Given the description of an element on the screen output the (x, y) to click on. 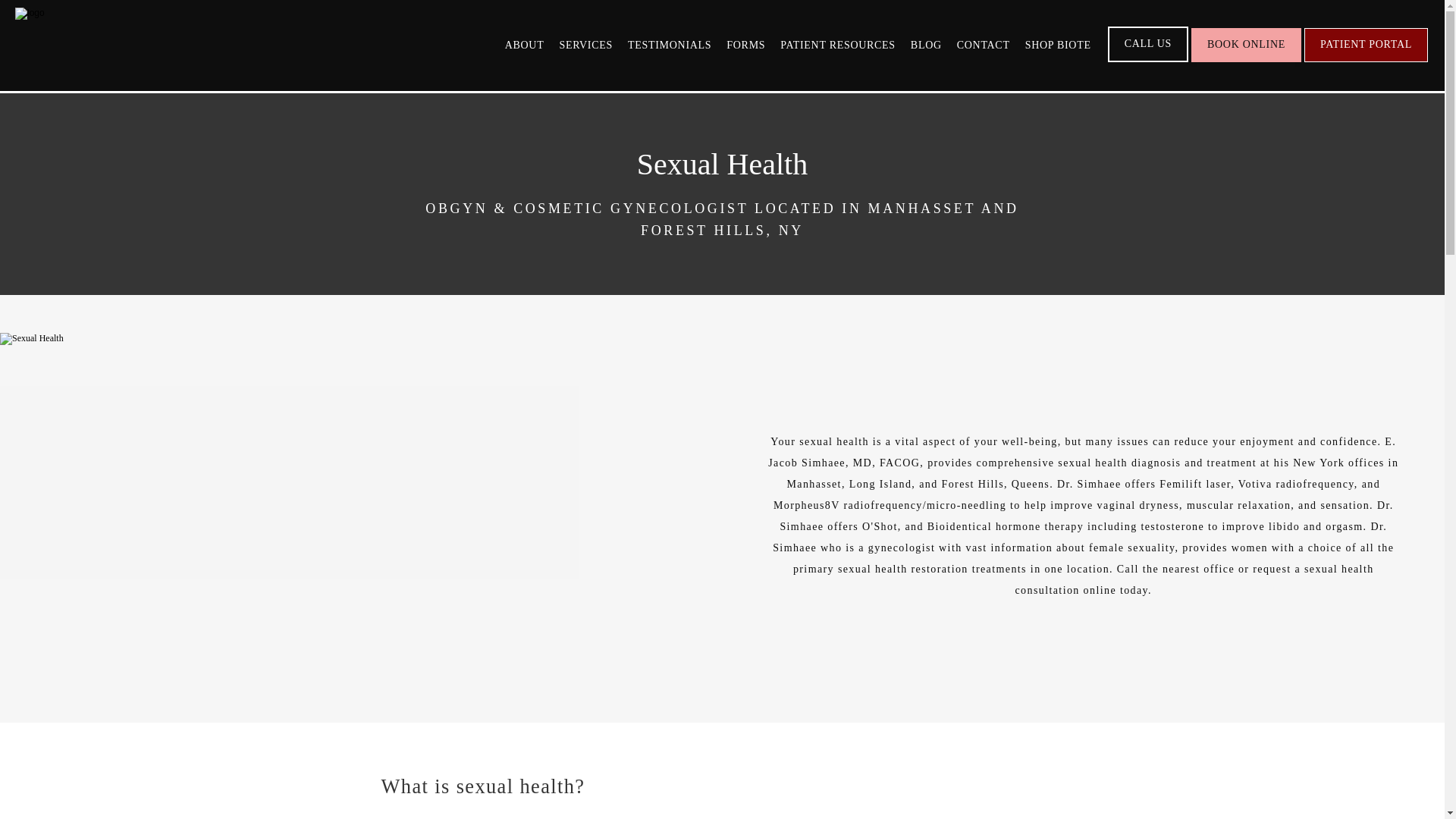
CALL US (1147, 60)
ABOUT (524, 44)
CONTACT (983, 44)
BLOG (926, 44)
PATIENT PORTAL (1366, 60)
BOOK ONLINE (1246, 60)
SHOP BIOTE (1057, 44)
SERVICES (585, 44)
TESTIMONIALS (669, 44)
